Given the description of an element on the screen output the (x, y) to click on. 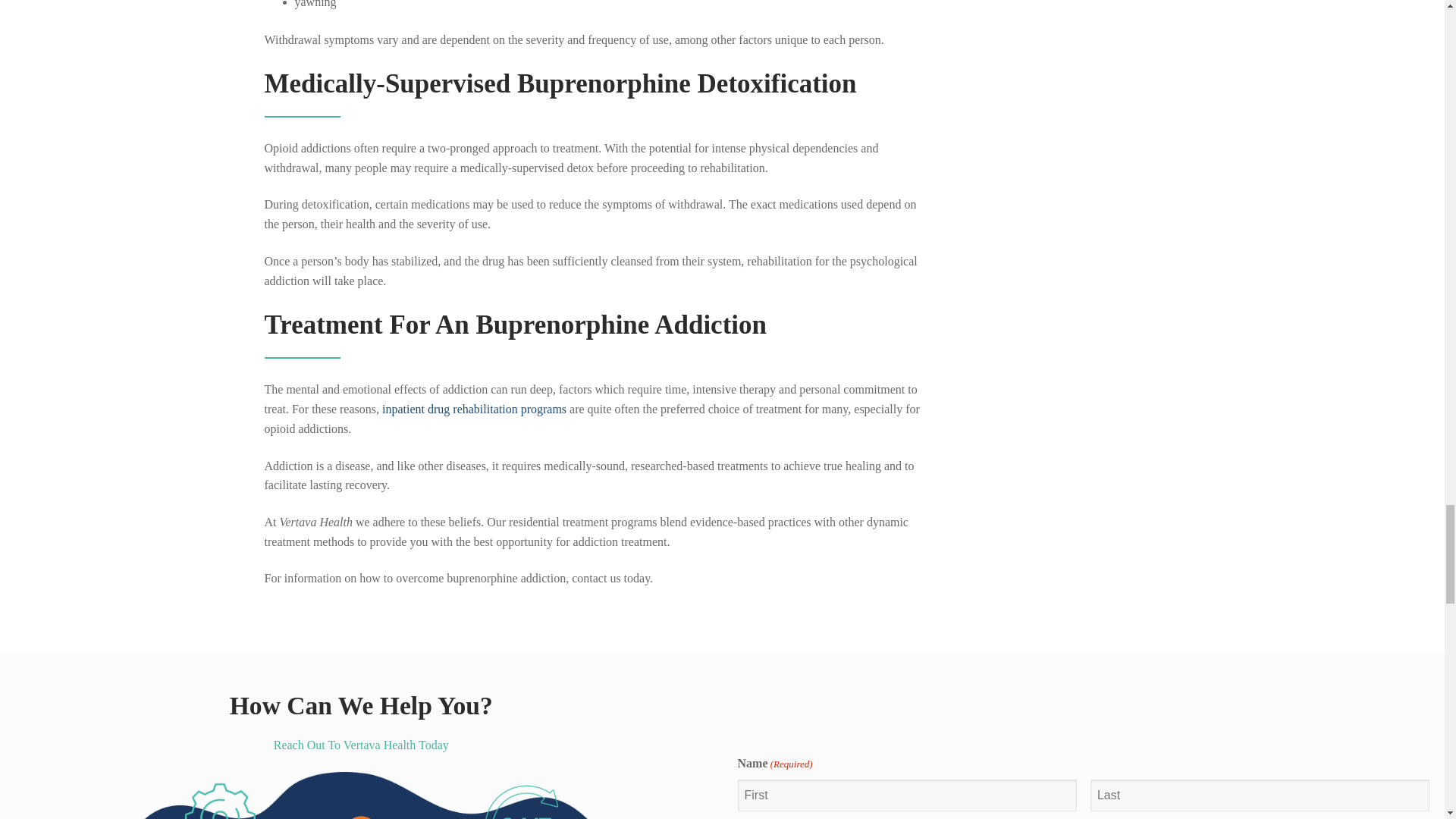
vertava-health-bottom-interior-cta-image (360, 795)
